Given the description of an element on the screen output the (x, y) to click on. 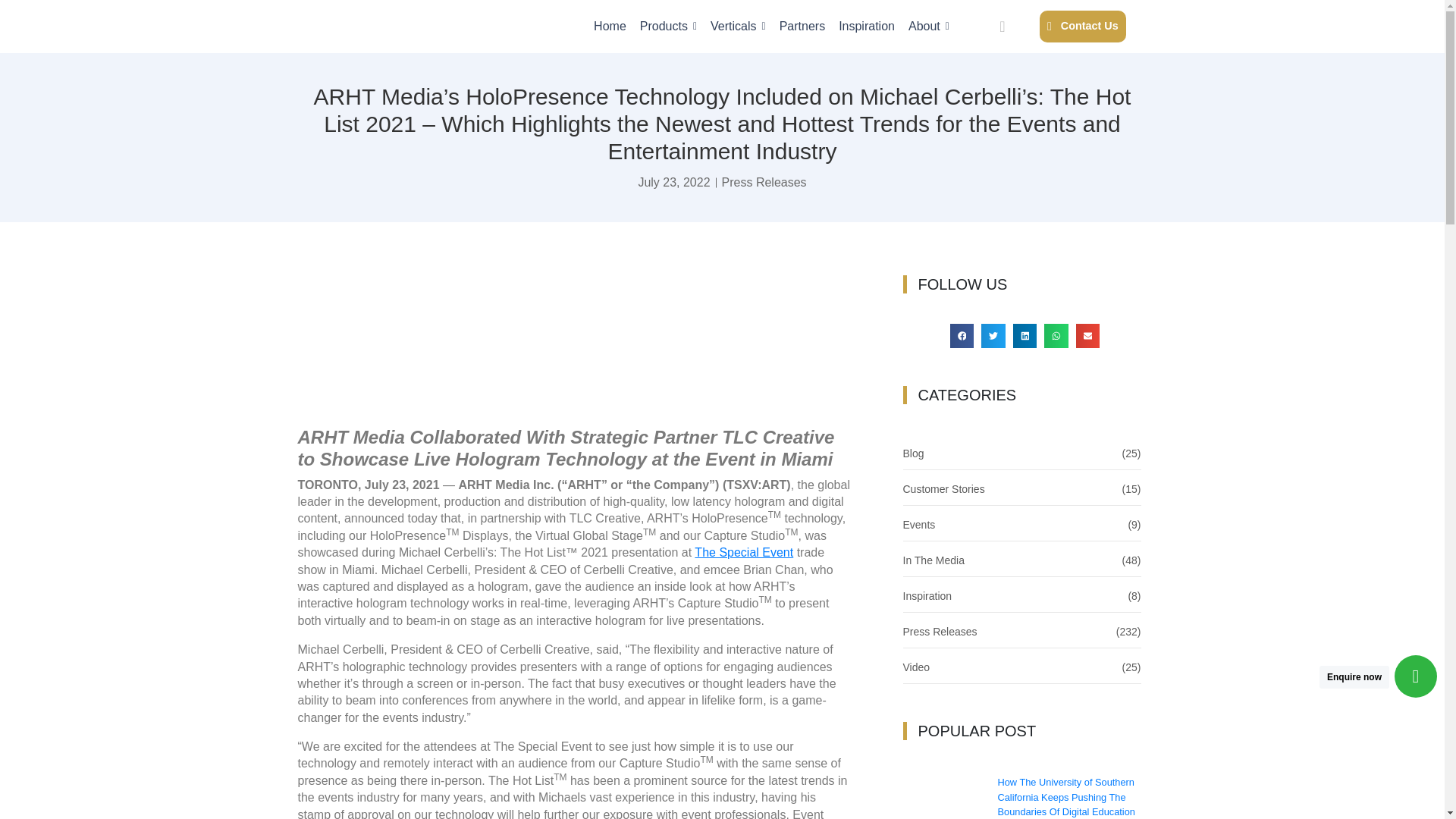
About (928, 26)
Home (610, 26)
Partners (801, 26)
Products (668, 26)
Verticals (737, 26)
Inspiration (866, 26)
